Given the description of an element on the screen output the (x, y) to click on. 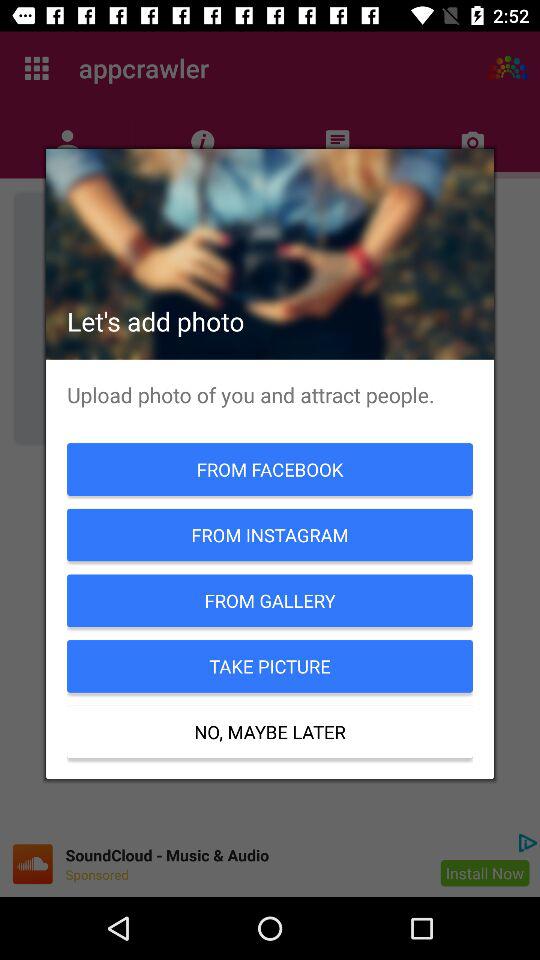
launch the no, maybe later item (269, 731)
